Given the description of an element on the screen output the (x, y) to click on. 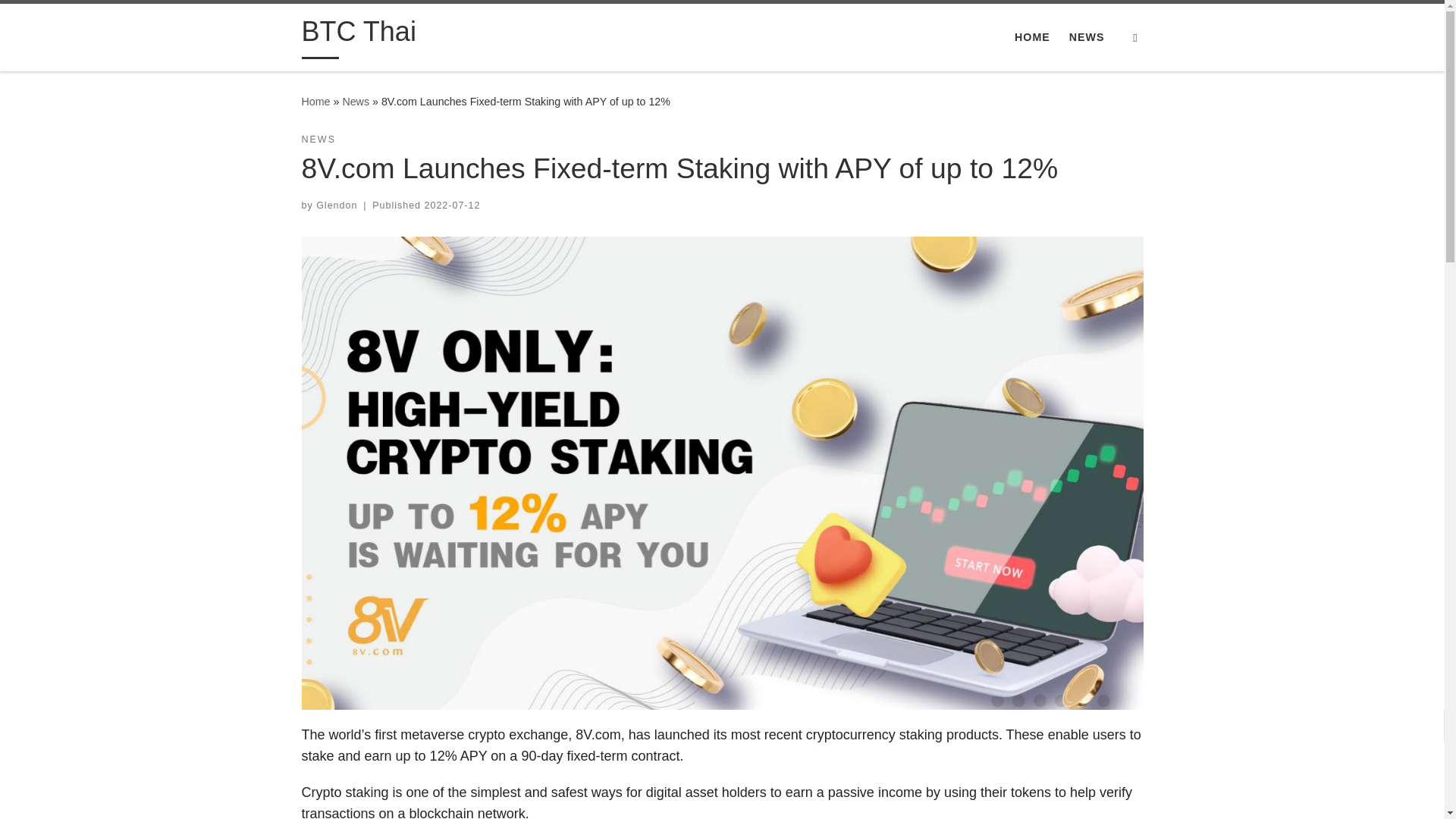
Home (315, 101)
News (355, 101)
Glendon (335, 204)
BTC Thai (358, 34)
View all posts by Glendon (335, 204)
HOME (1032, 37)
View all posts in News (318, 139)
NEWS (1086, 37)
2022-07-12 (452, 204)
12:06 (452, 204)
